Given the description of an element on the screen output the (x, y) to click on. 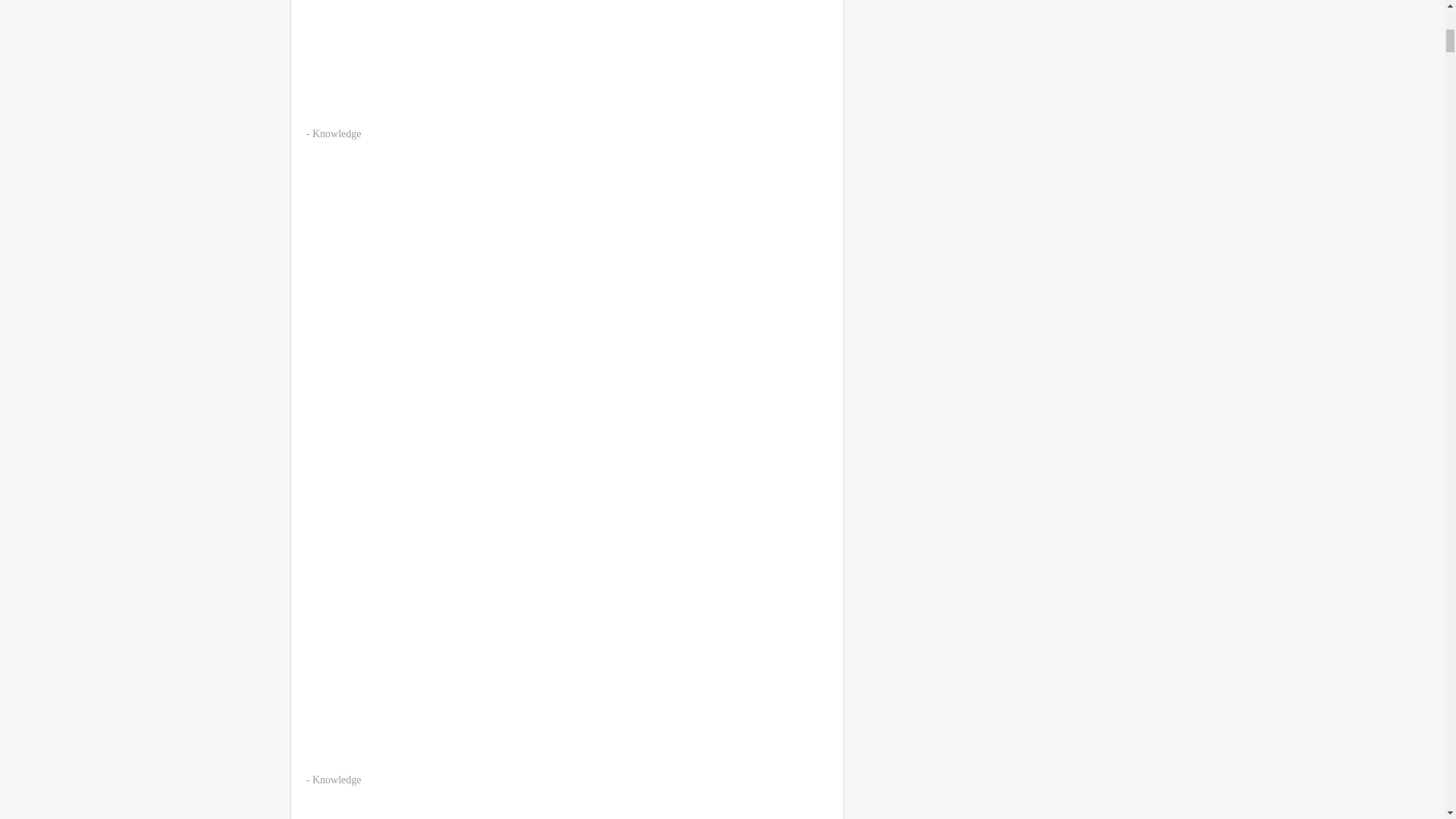
Knowledge (337, 779)
Knowledge (337, 133)
